Given the description of an element on the screen output the (x, y) to click on. 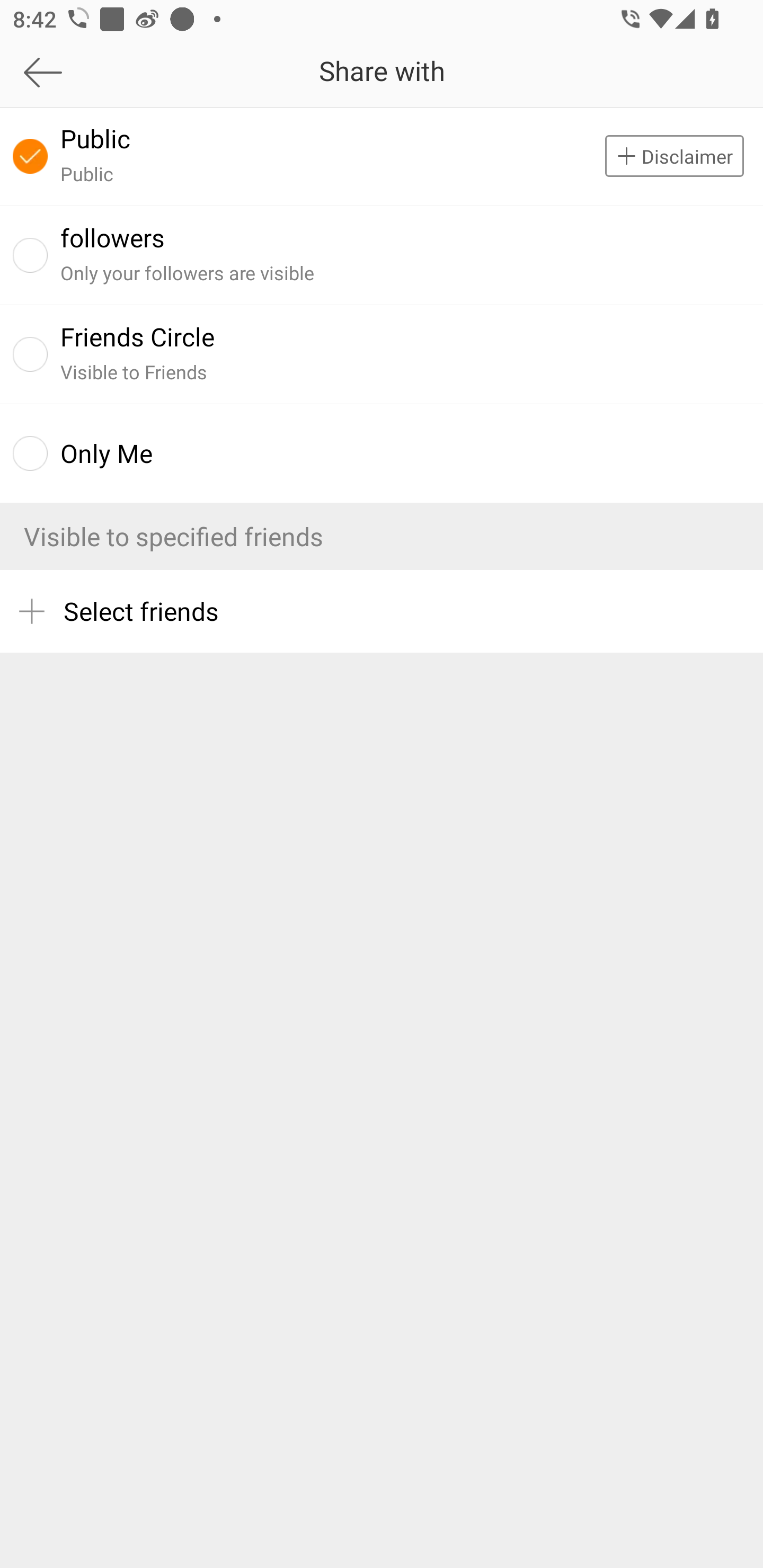
Back (100, 71)
Public Public Disclaimer (381, 155)
Disclaimer (684, 155)
followers Only your followers are visible (381, 254)
Friends Circle Visible to Friends (381, 353)
Only Me (381, 453)
Visible to specified friends (381, 536)
Select friends (381, 611)
